Given the description of an element on the screen output the (x, y) to click on. 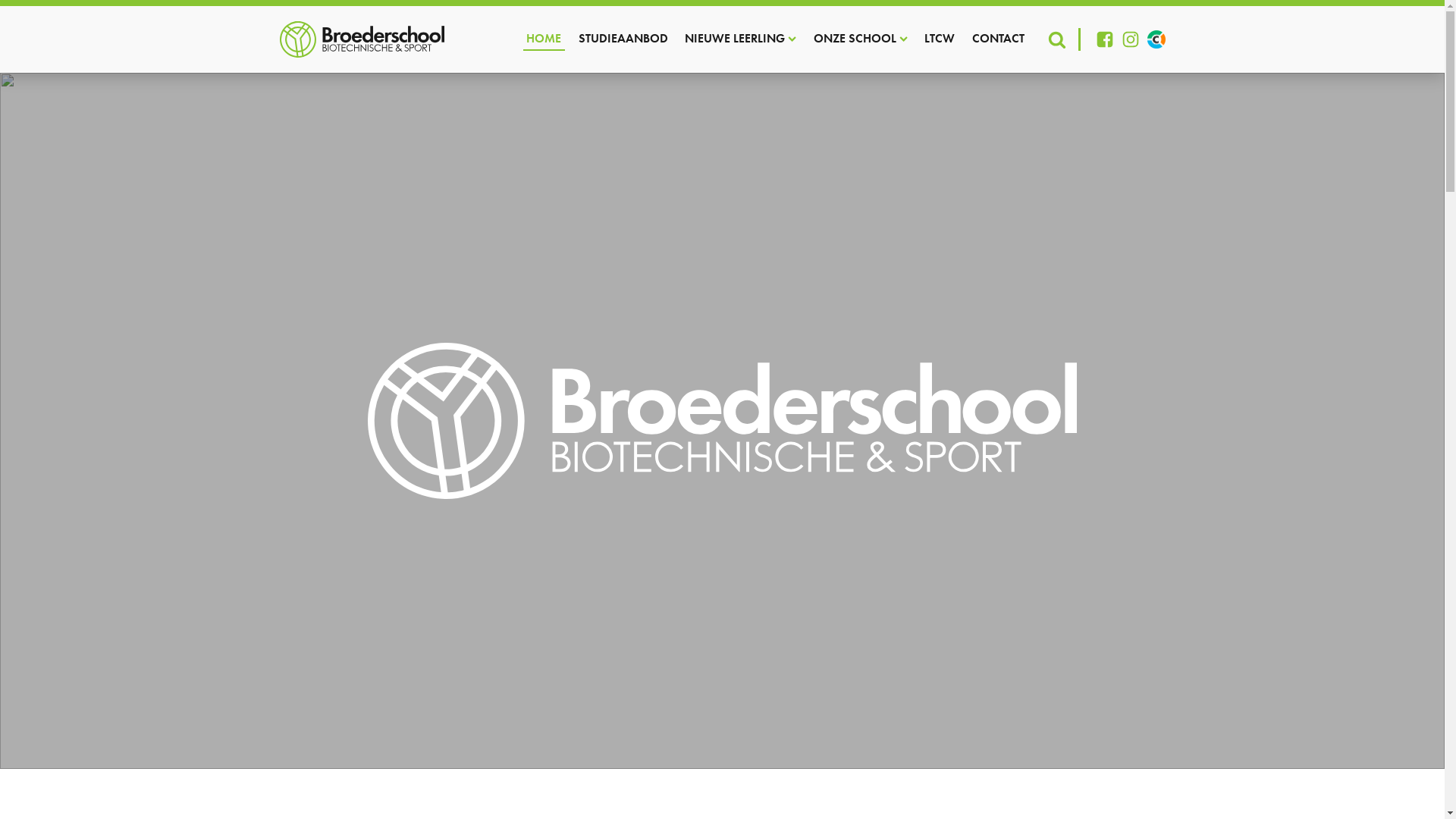
Zoeken Element type: text (26, 9)
Zoeken Element type: text (34, 12)
NIEUWE LEERLING Element type: text (740, 39)
ONZE SCHOOL Element type: text (860, 39)
HOME Element type: text (544, 39)
STUDIEAANBOD Element type: text (622, 39)
CONTACT Element type: text (998, 39)
LTCW Element type: text (940, 39)
